Given the description of an element on the screen output the (x, y) to click on. 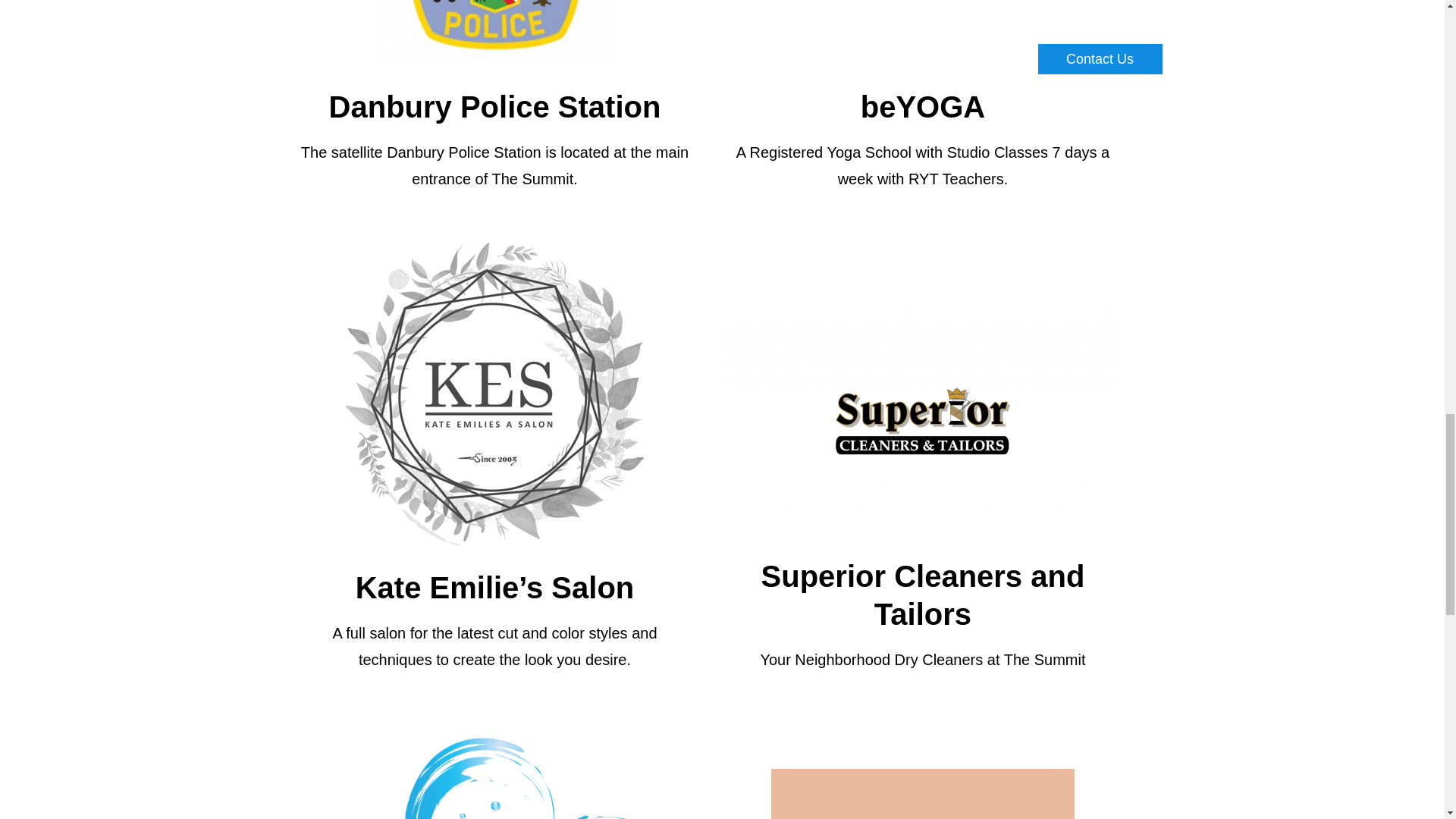
Superior Cleaners and Tailors (922, 594)
beYOGA (922, 106)
